Given the description of an element on the screen output the (x, y) to click on. 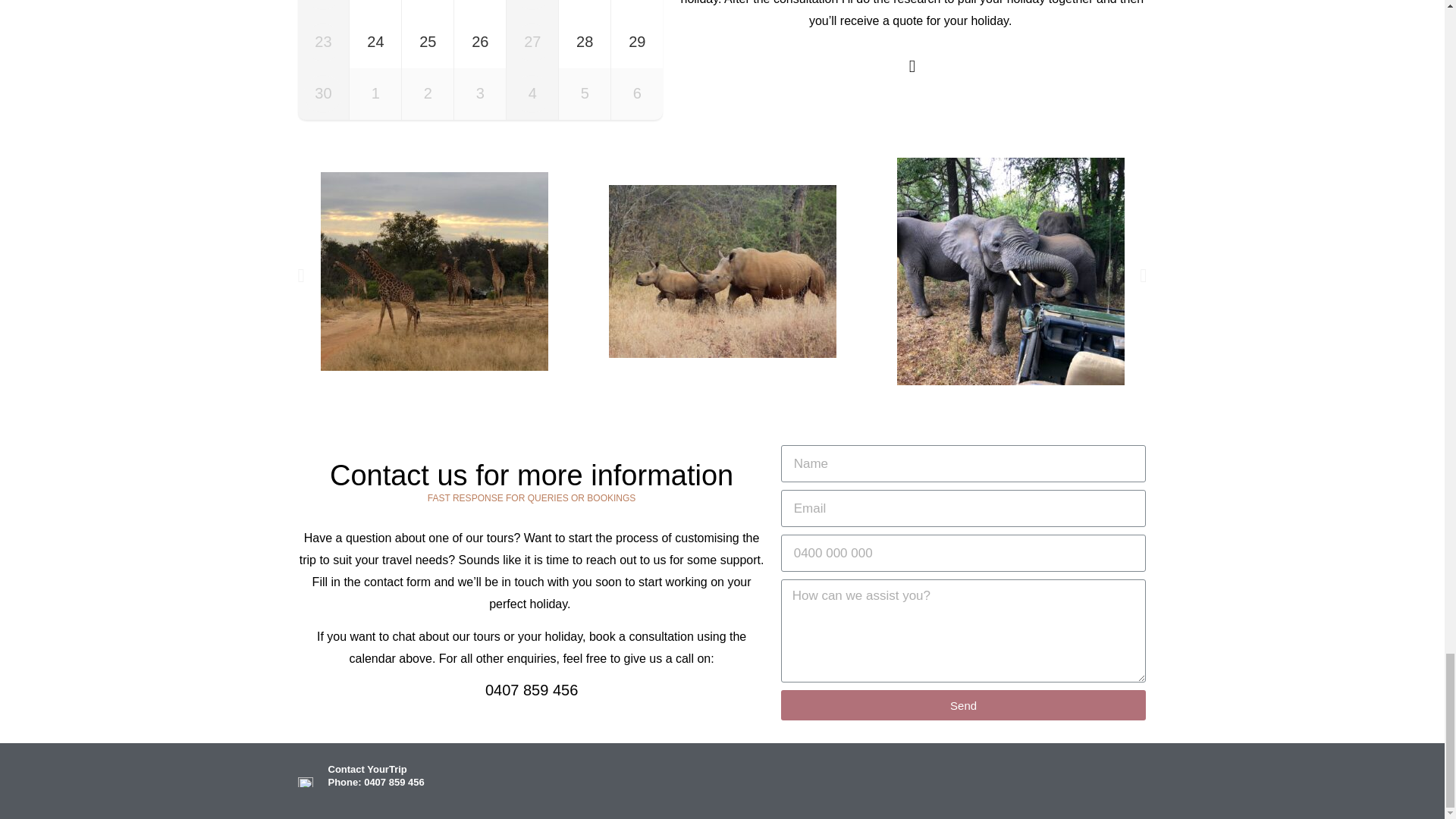
3 Available (479, 8)
3 Available (426, 41)
2 Available (636, 8)
11 Available (584, 8)
Send (963, 705)
3 Available (426, 8)
3 Available (375, 41)
3 Available (375, 8)
